Given the description of an element on the screen output the (x, y) to click on. 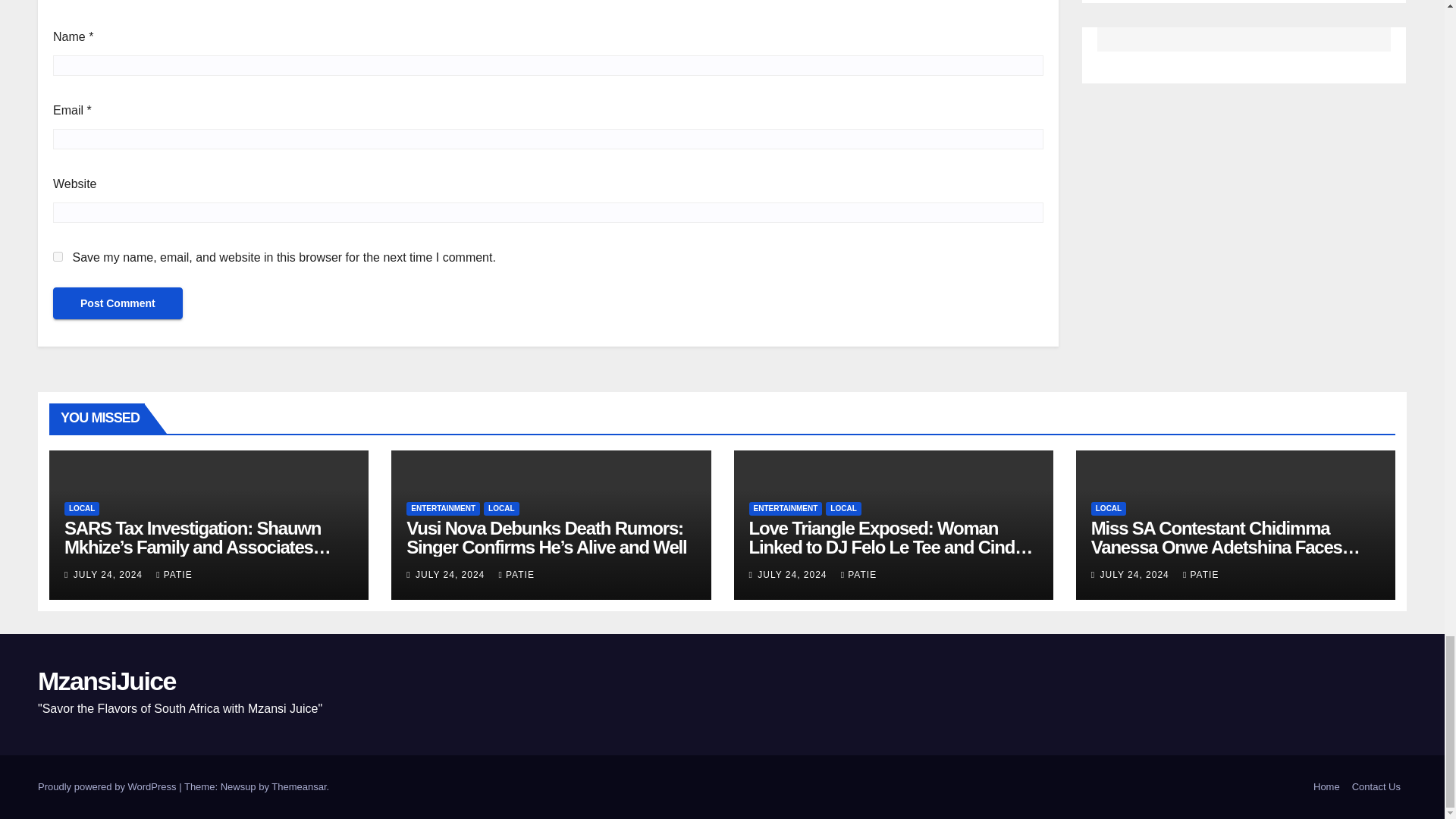
Post Comment (117, 303)
Home (1326, 786)
yes (57, 256)
